Given the description of an element on the screen output the (x, y) to click on. 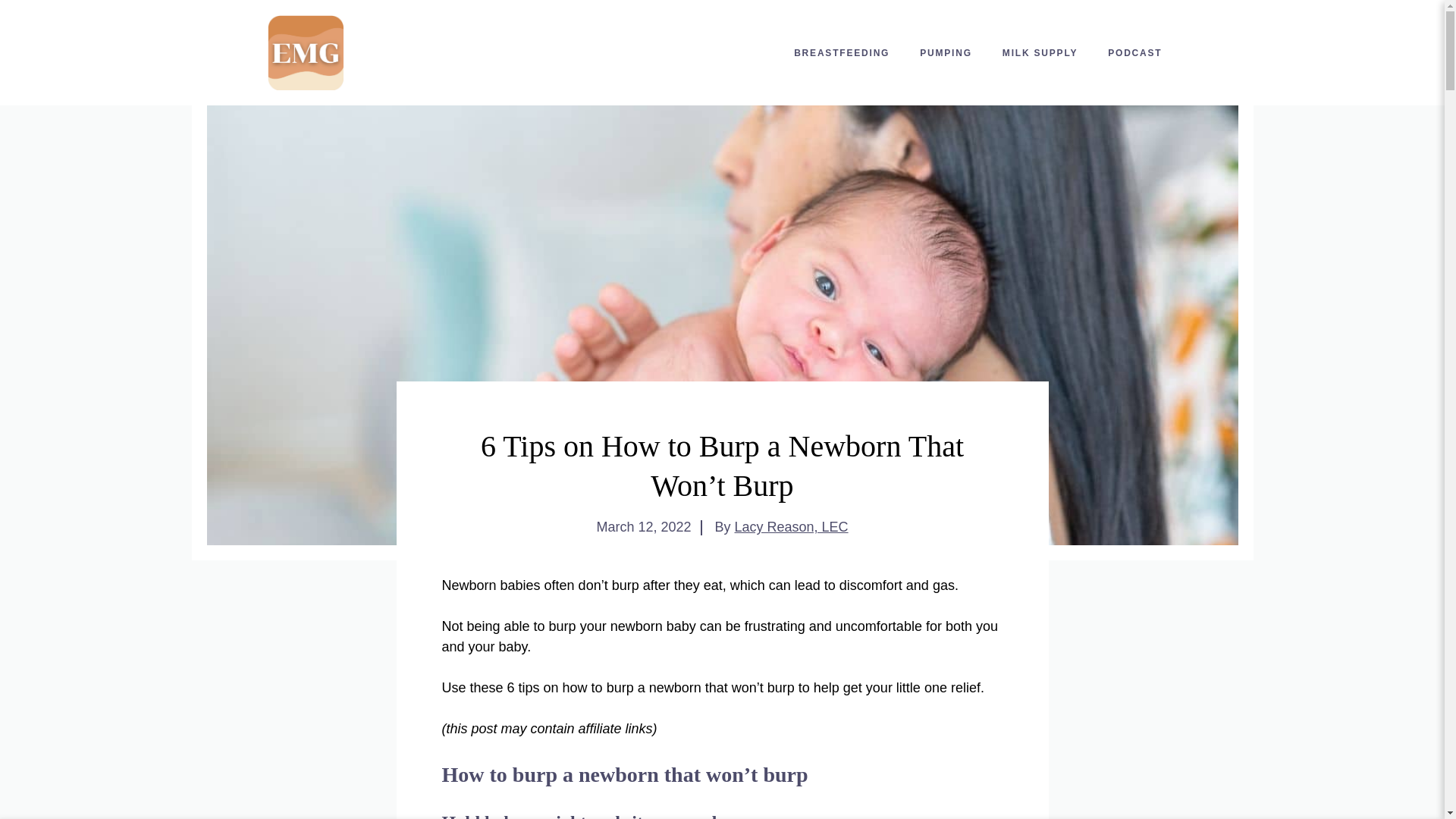
Lacy Reason, LEC (790, 526)
PUMPING (945, 53)
BREASTFEEDING (841, 53)
PODCAST (1134, 53)
MILK SUPPLY (1040, 53)
